Given the description of an element on the screen output the (x, y) to click on. 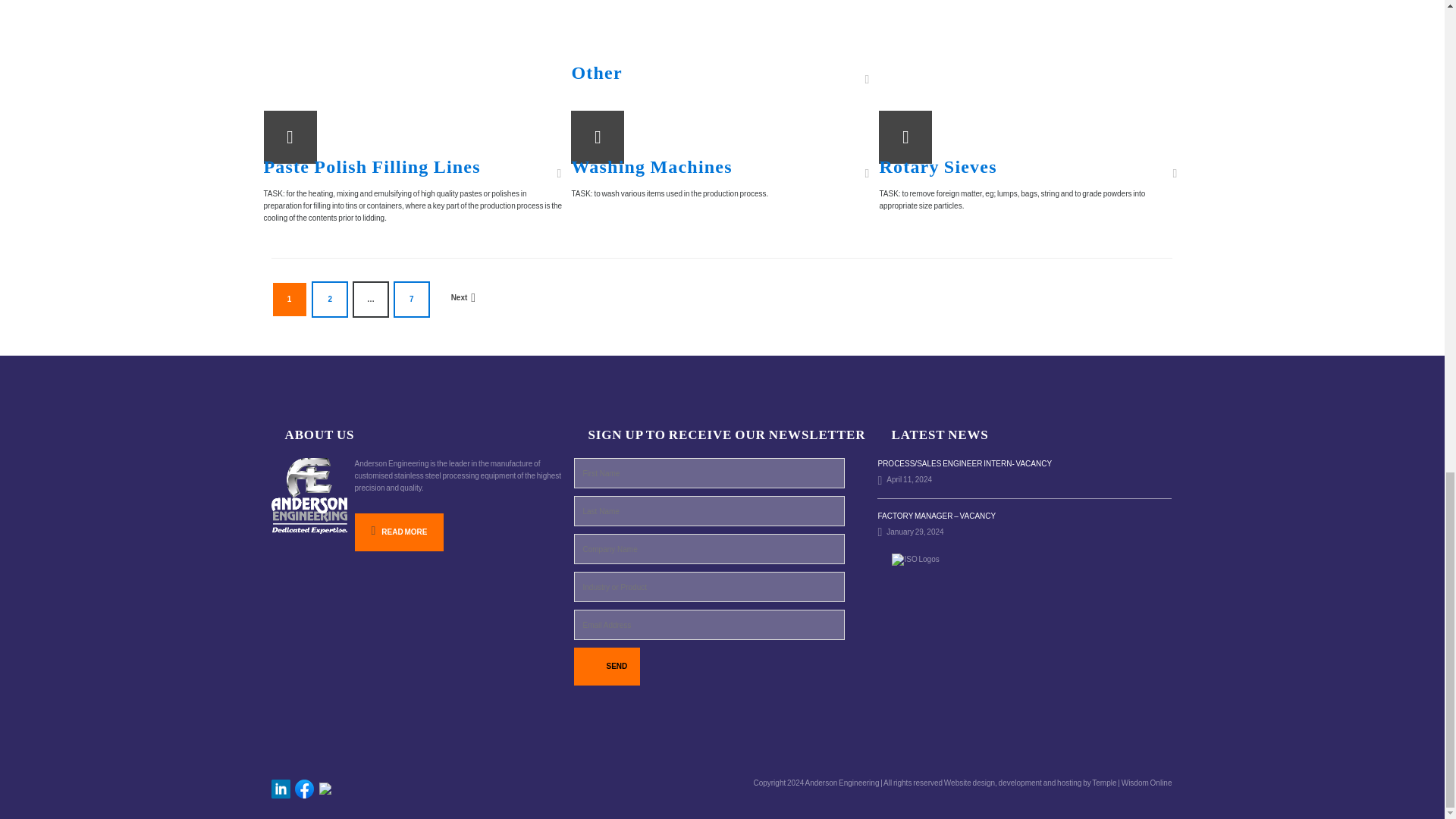
Send (606, 666)
